Given the description of an element on the screen output the (x, y) to click on. 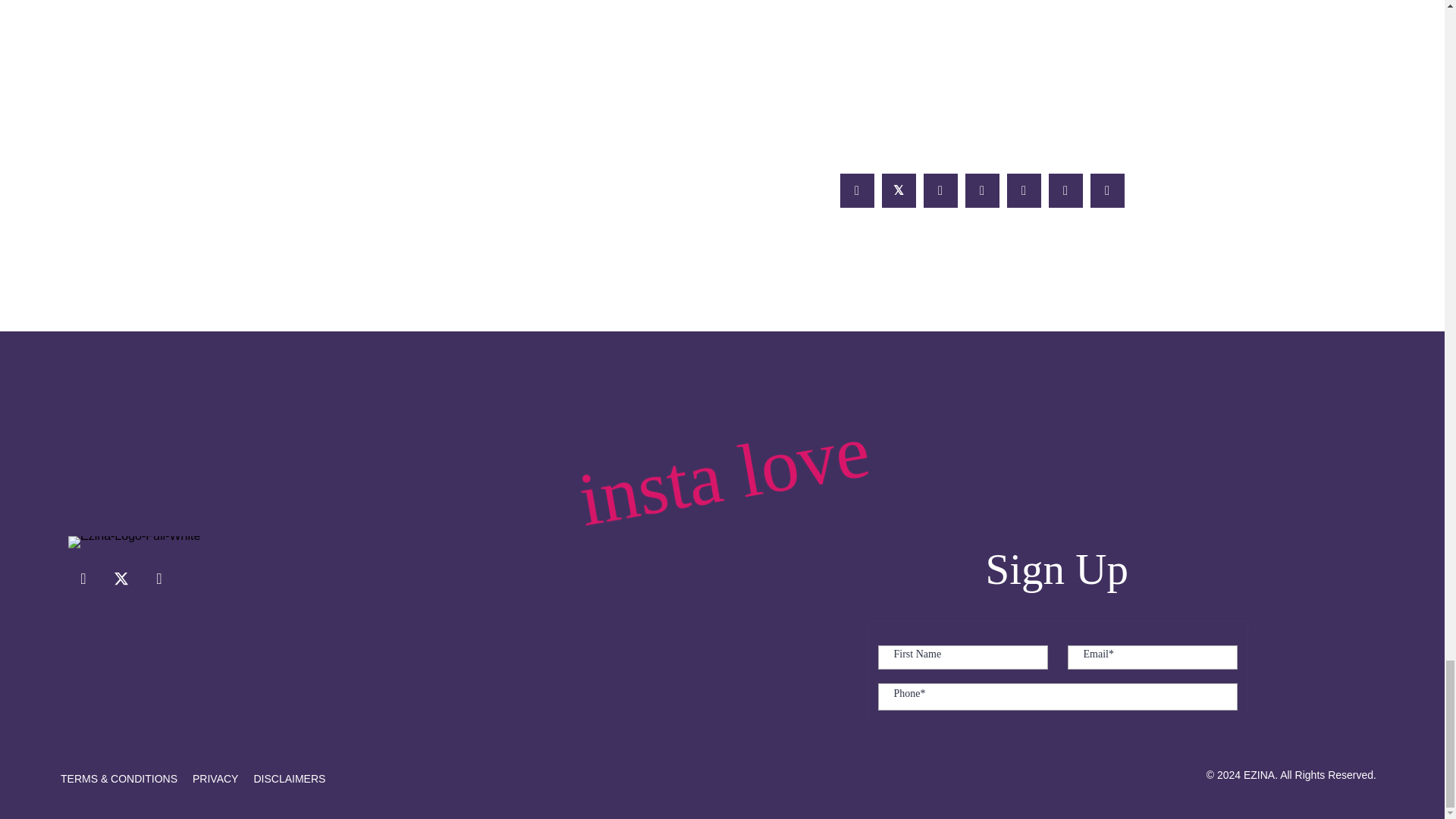
PRIVACY (215, 779)
Instagram (159, 578)
Ezina-Logo-Full-White (134, 541)
